Given the description of an element on the screen output the (x, y) to click on. 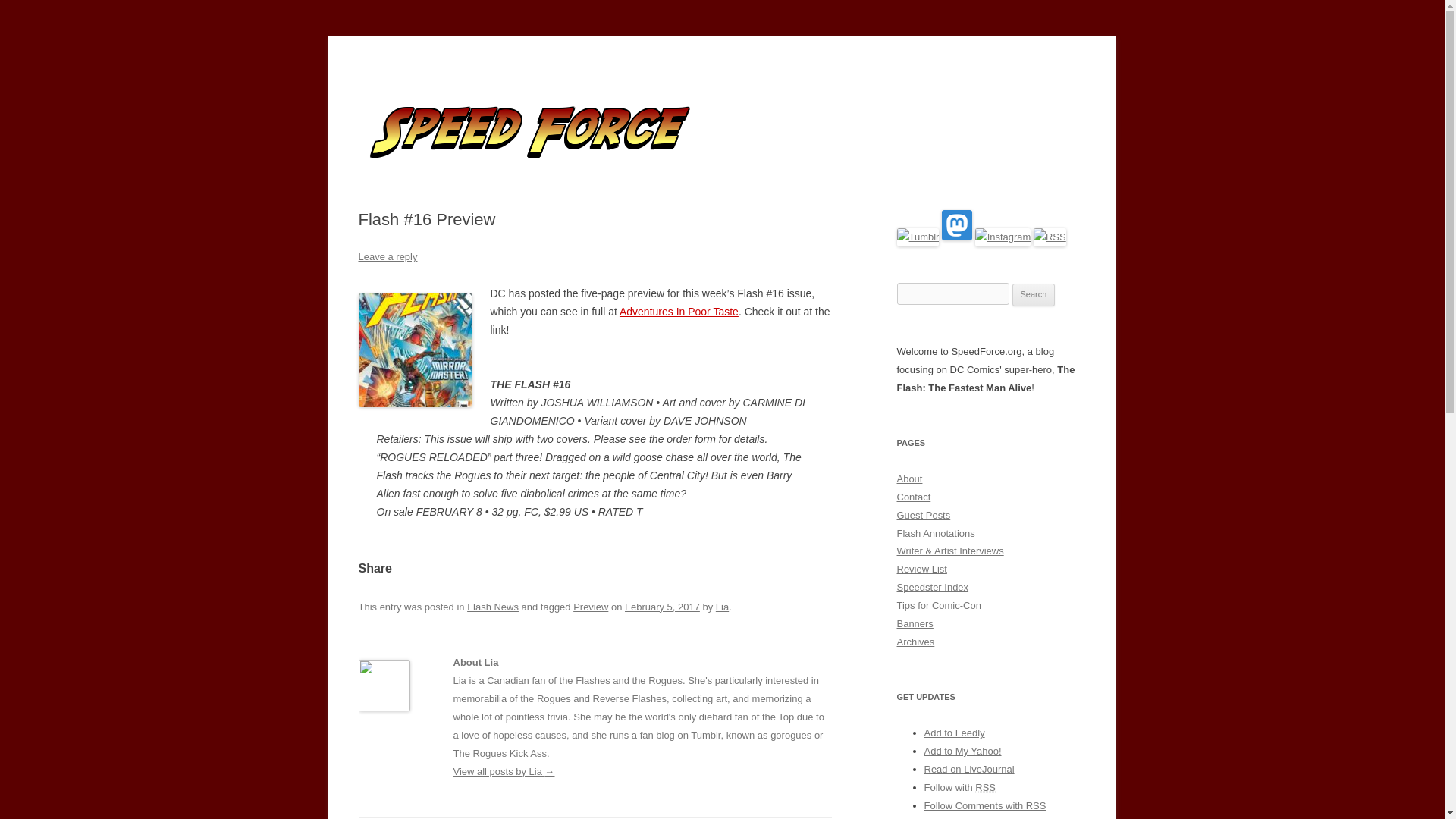
Search (1033, 294)
About (908, 478)
Follow with RSS (959, 787)
Guest Posts (923, 514)
Add to My Yahoo! (962, 750)
Preview (590, 606)
Contact (913, 496)
Posts by Lia (722, 606)
Banners (914, 623)
Flash News (492, 606)
Leave a reply (387, 256)
Review List (921, 568)
RSS Feed (1049, 236)
